Given the description of an element on the screen output the (x, y) to click on. 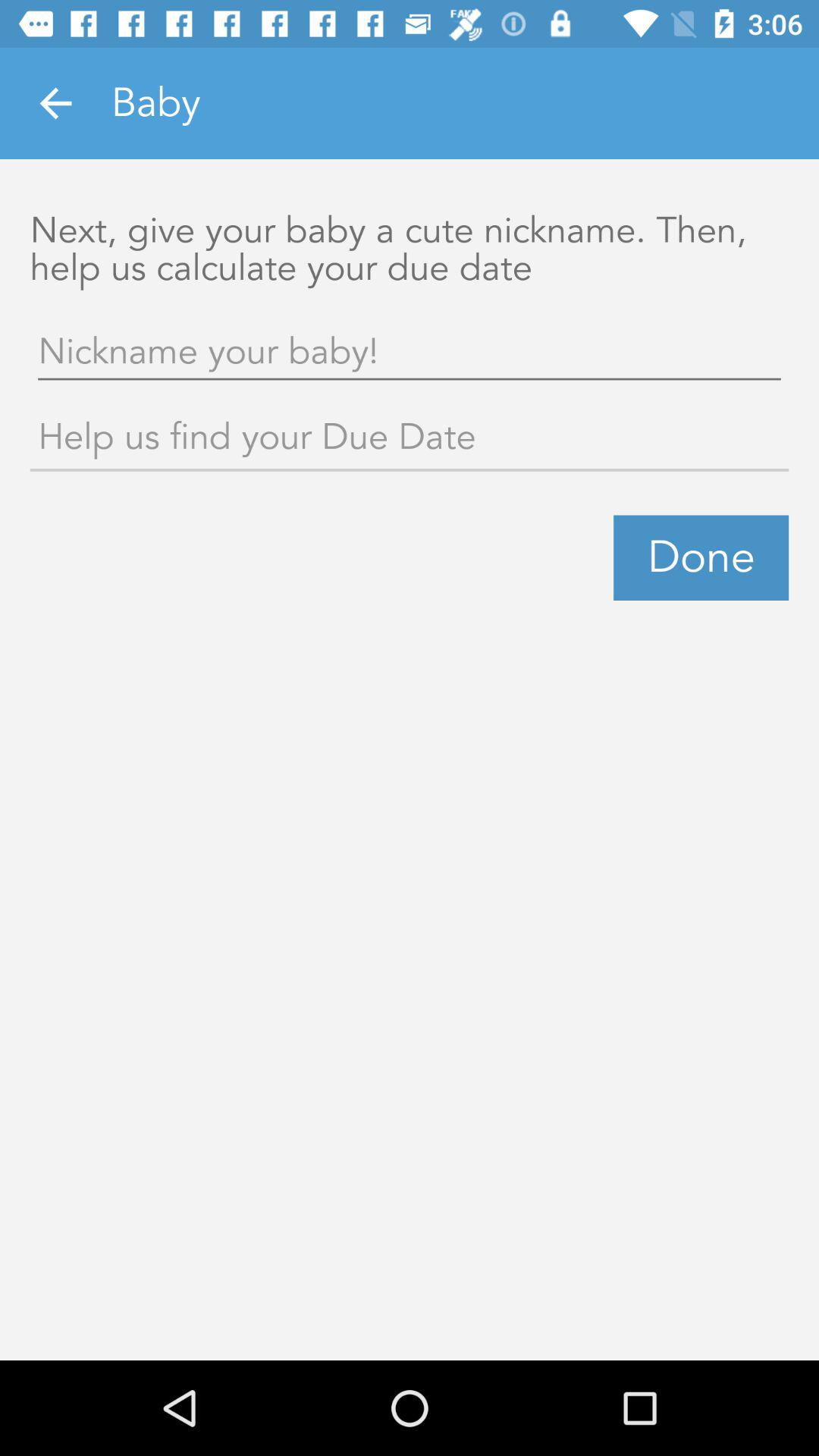
click to help find your due date (409, 440)
